Given the description of an element on the screen output the (x, y) to click on. 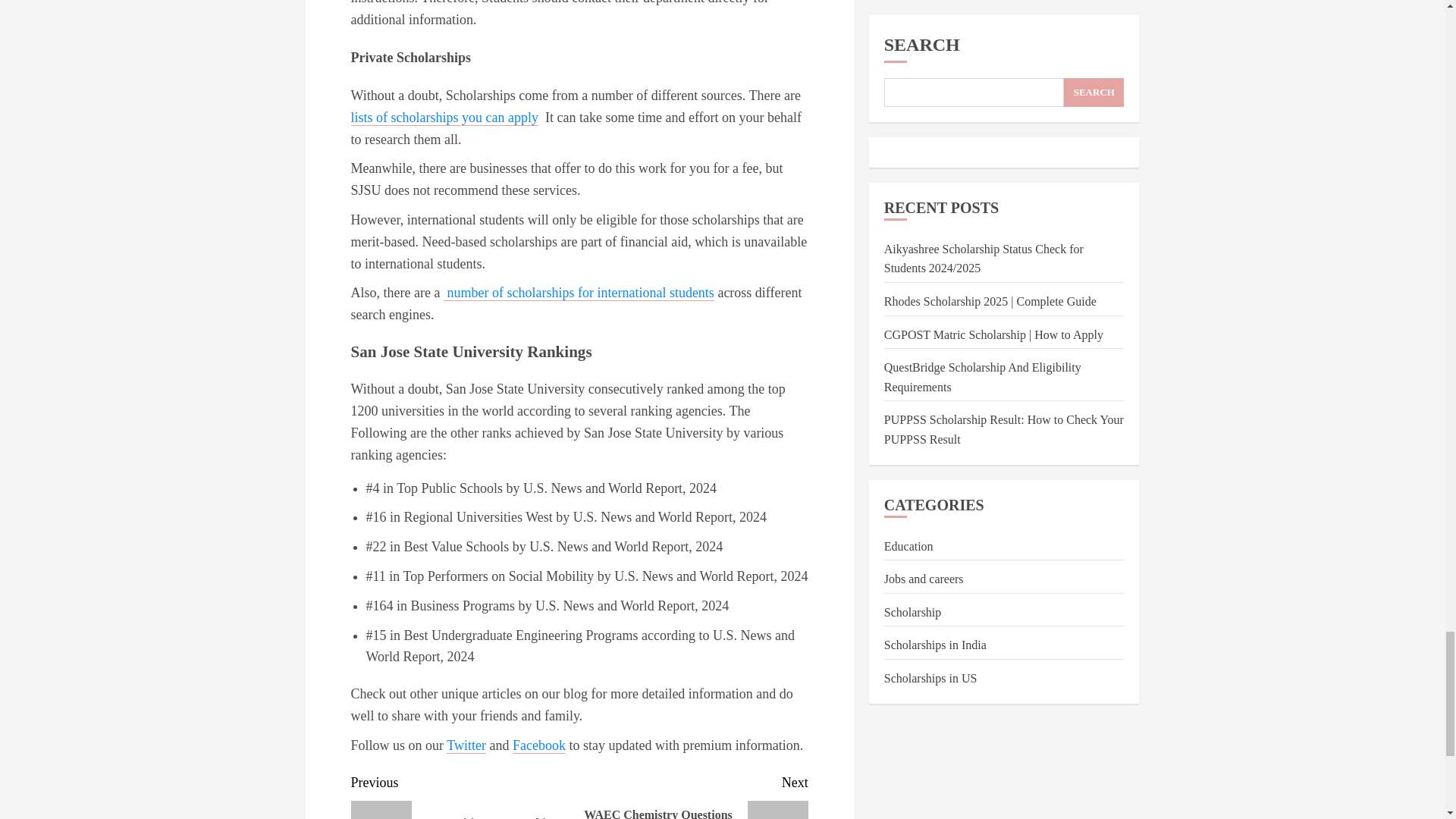
Facebook (539, 745)
lists of scholarships you can apply (443, 117)
Twitter (466, 745)
number of scholarships for international students (579, 293)
